Given the description of an element on the screen output the (x, y) to click on. 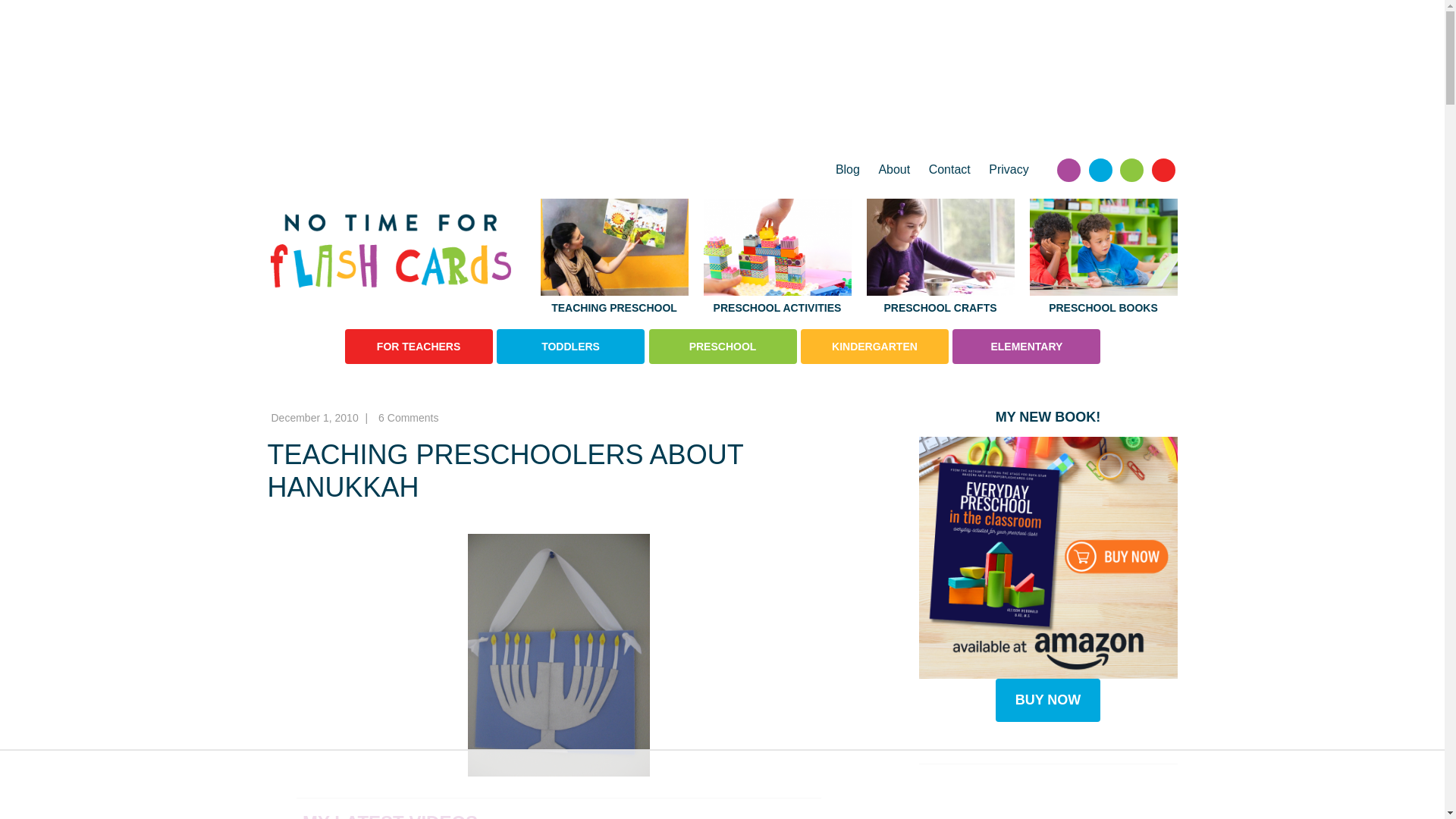
PRESCHOOL CRAFTS (939, 257)
Blog (847, 169)
6 Comments (408, 417)
Preschool Activities (777, 257)
PRESCHOOL (722, 346)
Preschool Books (1103, 257)
Teaching Preschool (613, 257)
PRESCHOOL BOOKS (1103, 257)
KINDERGARTEN (874, 346)
About (893, 169)
Preschool Crafts (939, 257)
TODDLERS (570, 346)
Privacy (1004, 169)
TEACHING PRESCHOOL (613, 257)
ELEMENTARY (1026, 346)
